Given the description of an element on the screen output the (x, y) to click on. 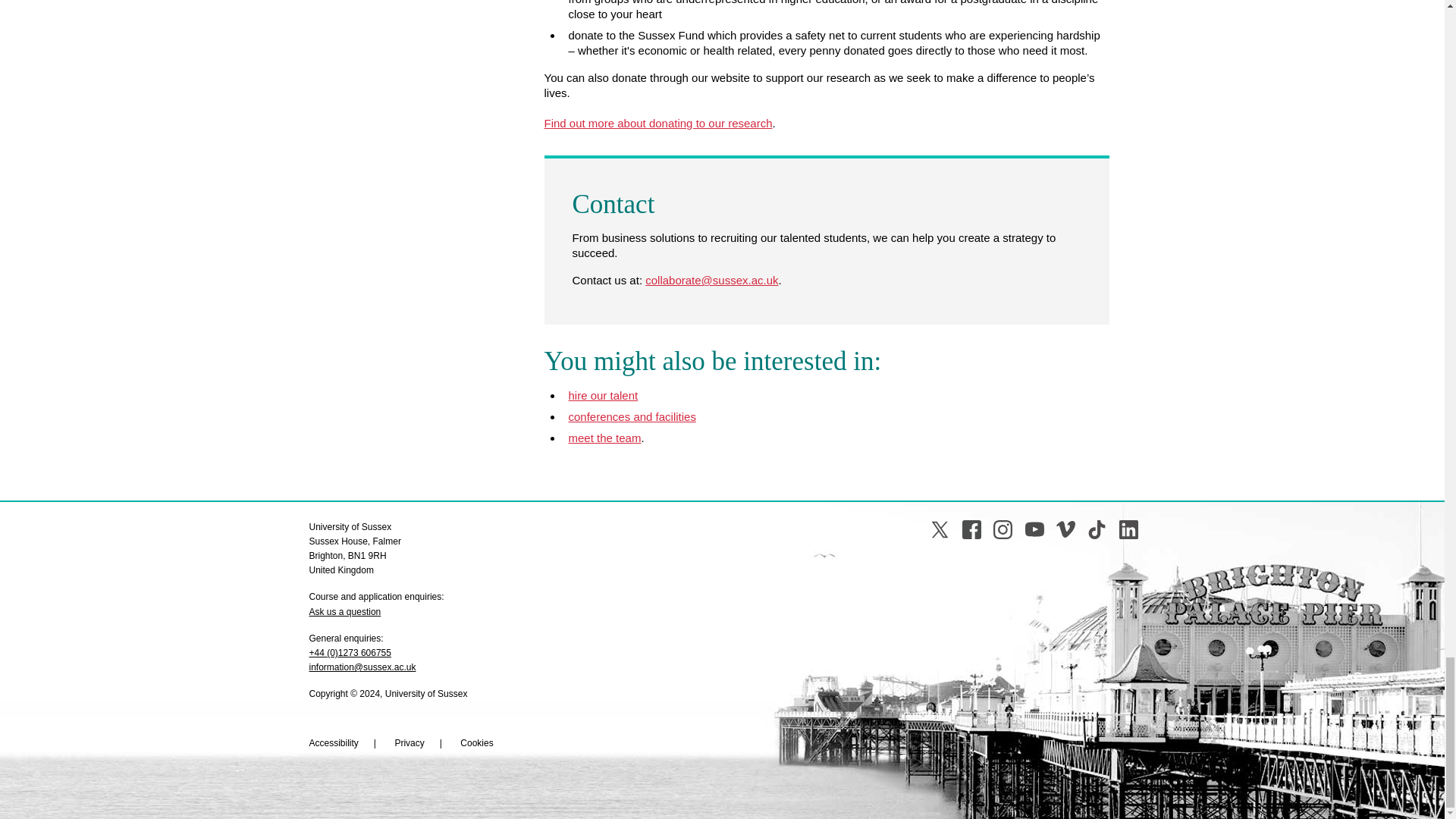
Instagram (1001, 529)
Linkedin (1128, 529)
YouTube (1034, 529)
Vimeo (1066, 529)
Tiktok (1096, 529)
Twitter (939, 529)
Facebook (971, 529)
